Given the description of an element on the screen output the (x, y) to click on. 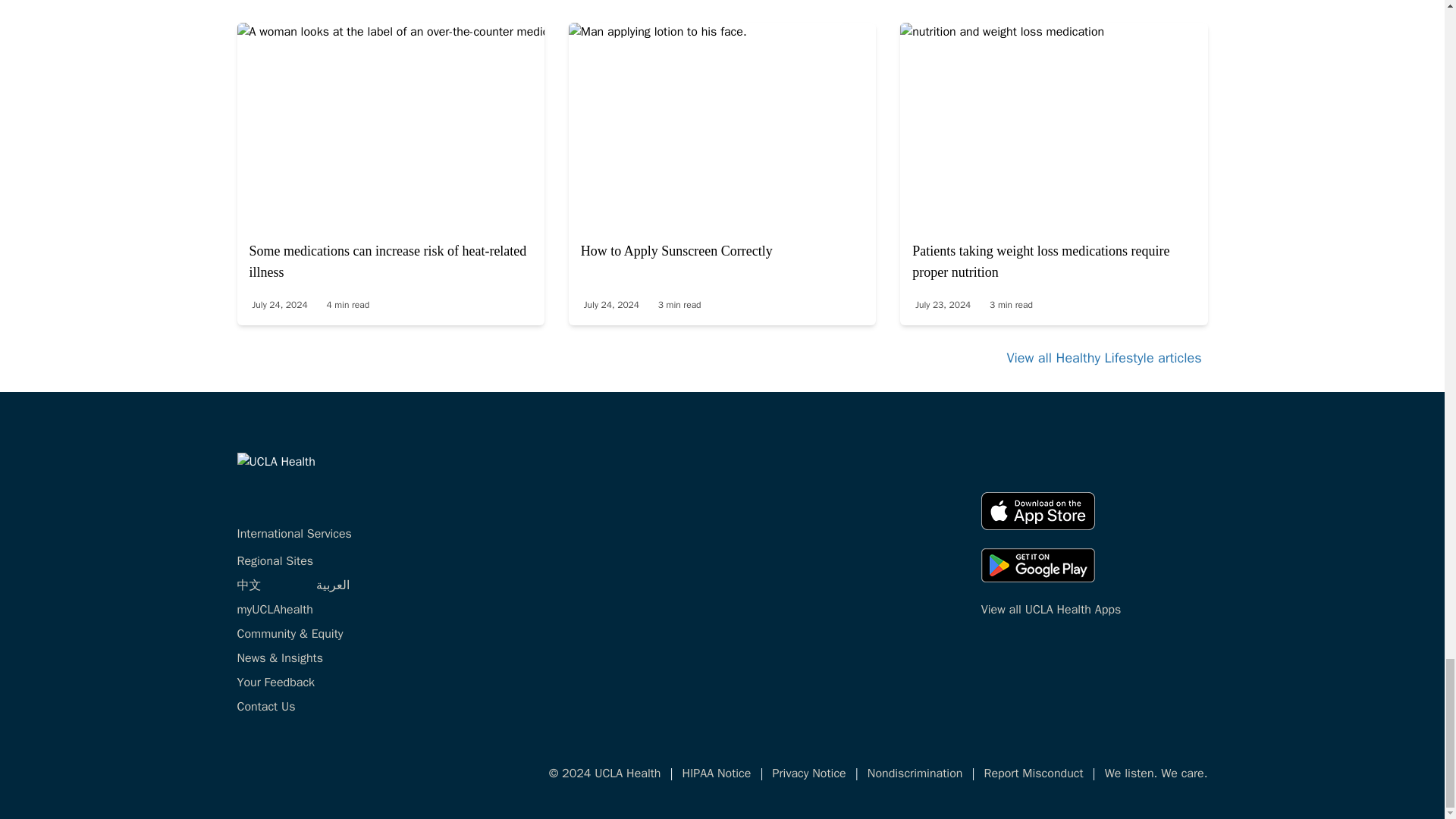
myUCLAhealth Login. (274, 609)
